Given the description of an element on the screen output the (x, y) to click on. 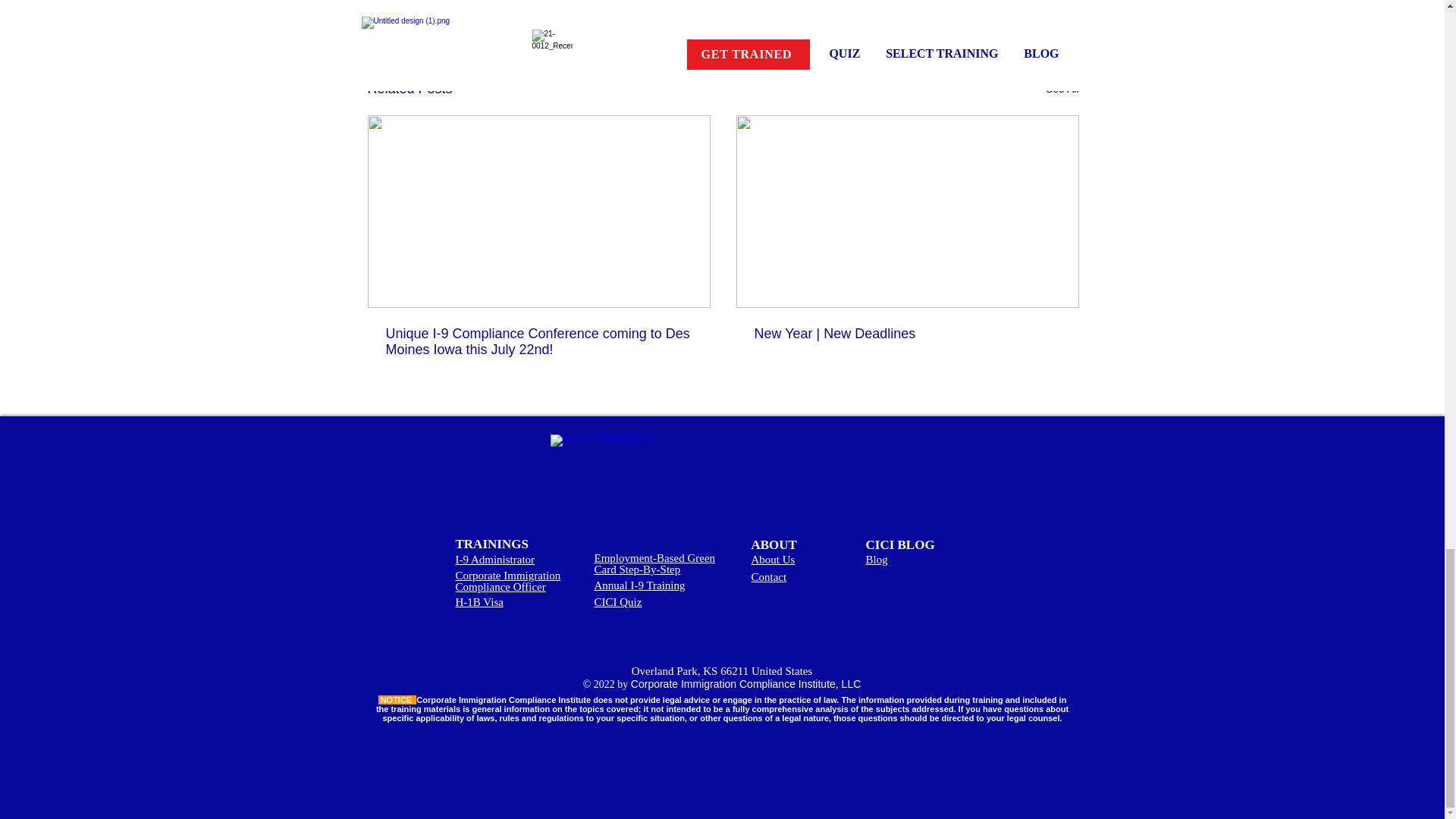
Corporate Immigration Compliance Officer (507, 580)
Employment-Based Green Card Step-By-Step (655, 563)
About Us (772, 559)
H-1B Visa (478, 602)
Contact (768, 576)
I-9 Administrator (494, 559)
See All (1061, 88)
Annual I-9 Training (639, 585)
Blog (877, 559)
